Given the description of an element on the screen output the (x, y) to click on. 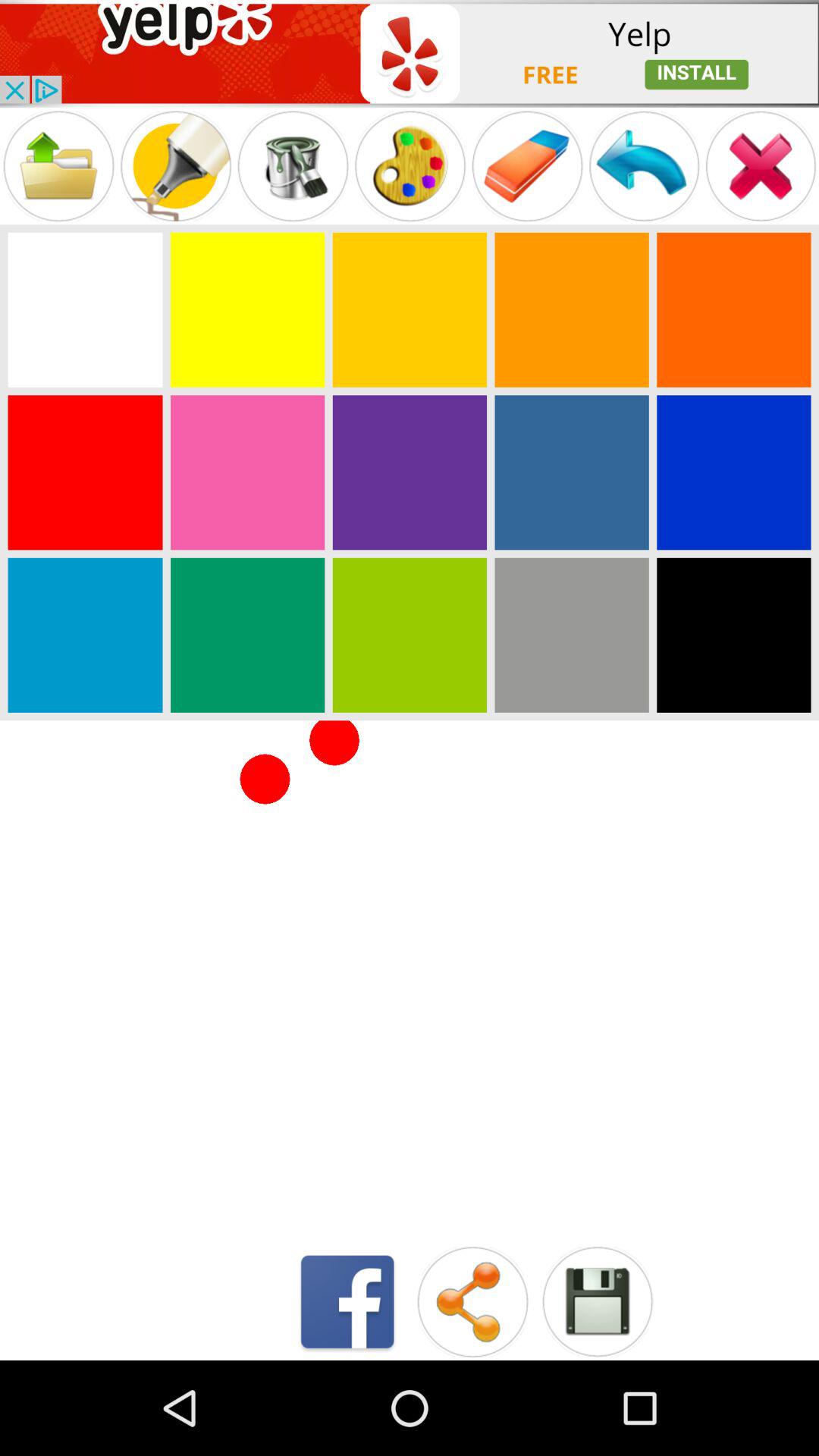
background colour option (409, 472)
